Given the description of an element on the screen output the (x, y) to click on. 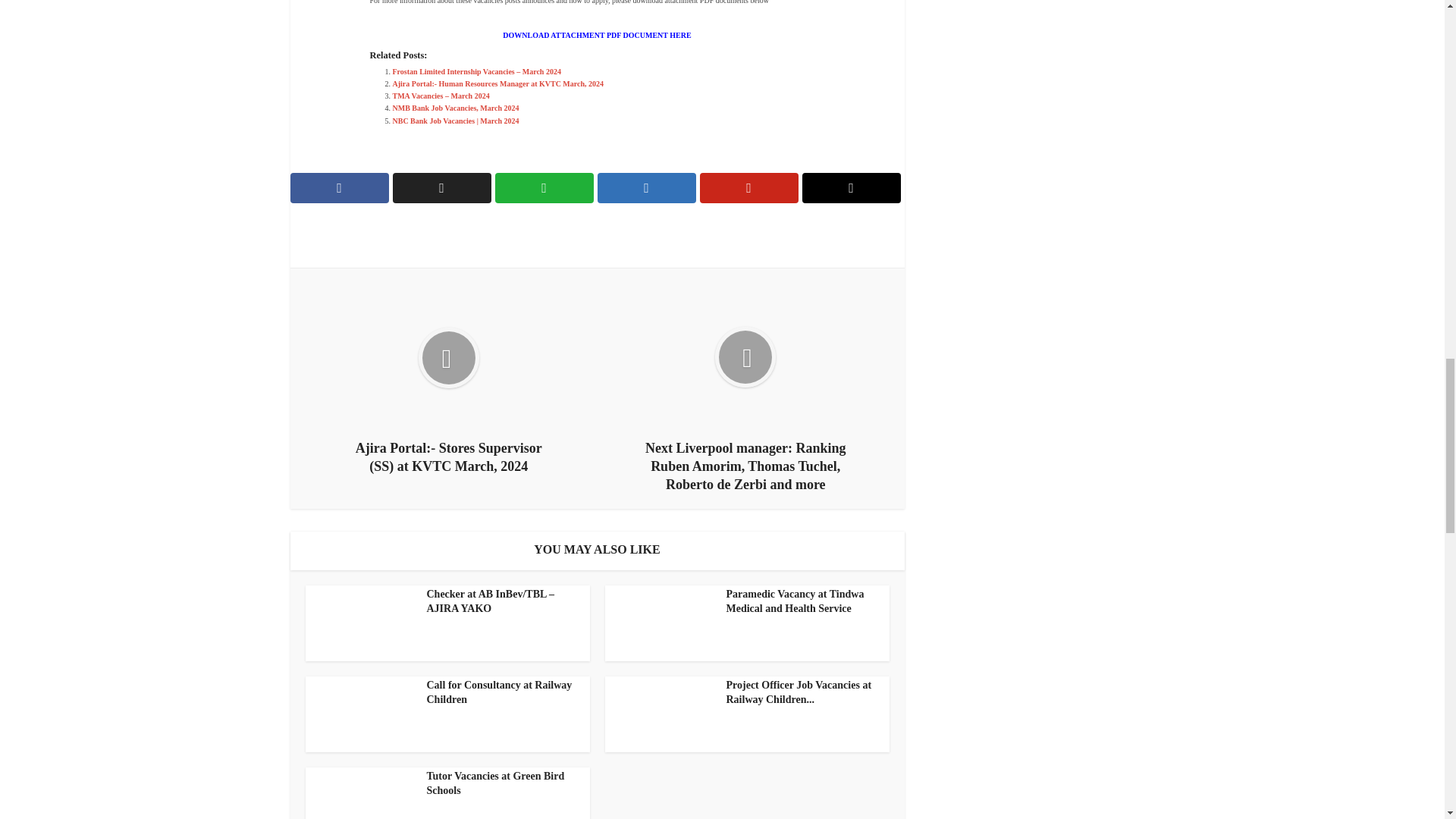
DOWNLOAD ATTACHMENT PDF DOCUMENT HERE (596, 35)
Paramedic Vacancy at Tindwa Medical and Health Service (795, 601)
Tutor Vacancies at Green Bird Schools (495, 783)
Call for Consultancy at Railway Children (499, 692)
Ajira Portal:- Human Resources Manager at KVTC March, 2024 (498, 83)
NMB Bank Job Vacancies, March 2024 (456, 108)
NMB Bank Job Vacancies, March 2024 (456, 108)
Ajira Portal:- Human Resources Manager at KVTC March, 2024 (498, 83)
Paramedic Vacancy at Tindwa Medical and Health Service (795, 601)
